Given the description of an element on the screen output the (x, y) to click on. 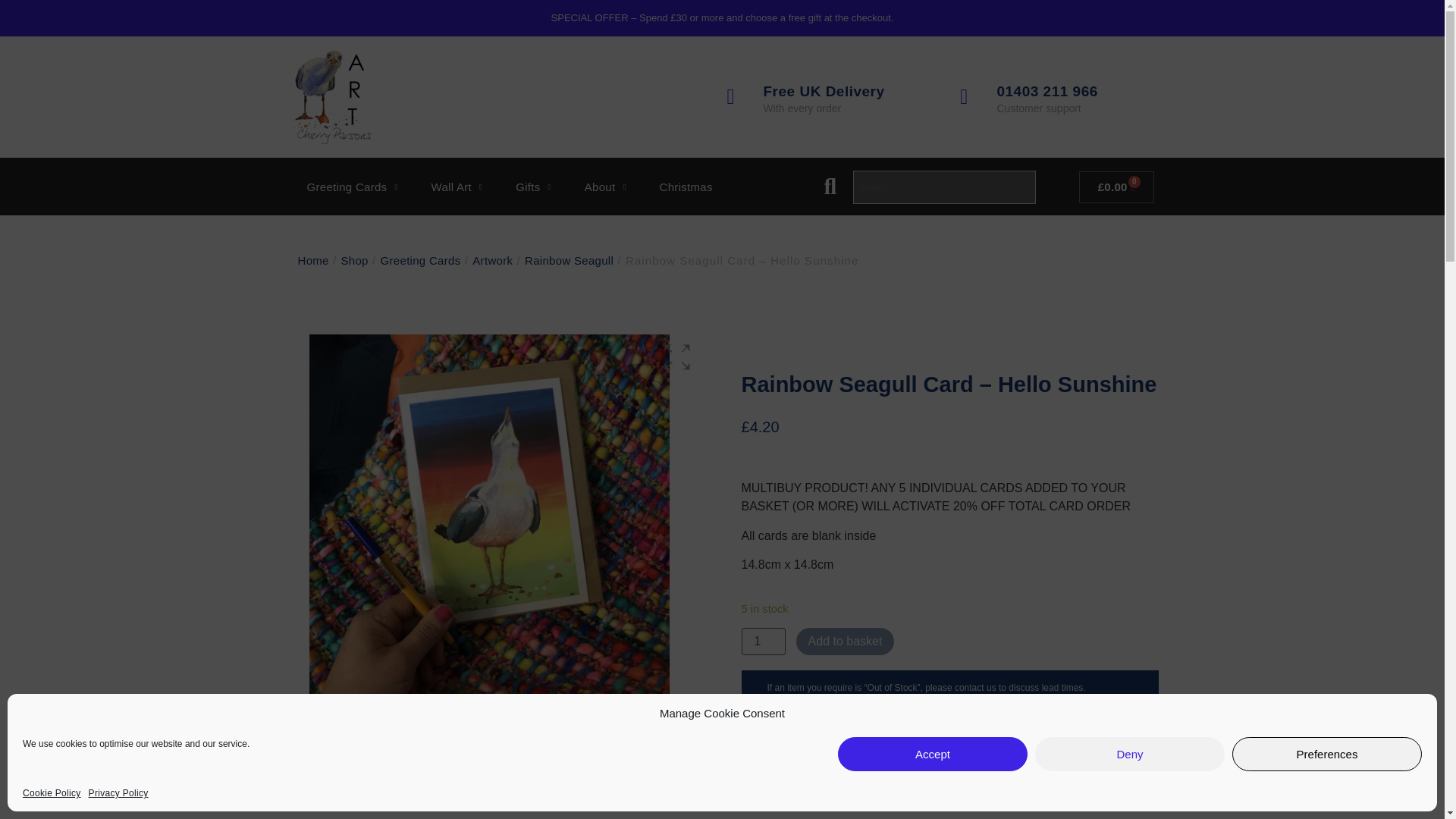
Greeting Cards (351, 186)
01403 211 966 (1046, 91)
Accept (932, 754)
Privacy Policy (118, 793)
Deny (1129, 754)
Wall Art (456, 186)
Preferences (1326, 754)
1 (763, 641)
Cookie Policy (52, 793)
